Given the description of an element on the screen output the (x, y) to click on. 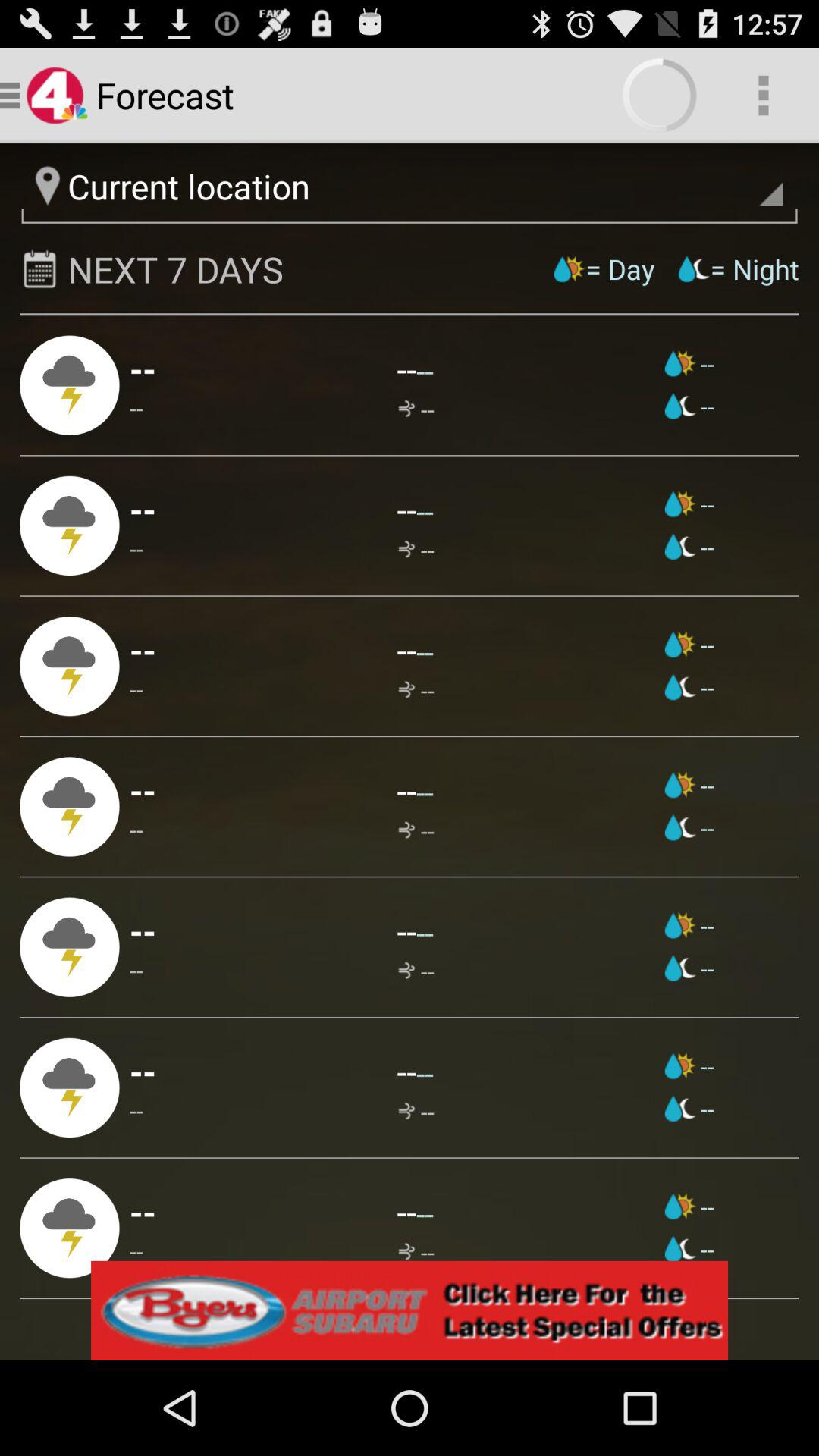
tap the app next to -- (415, 409)
